Given the description of an element on the screen output the (x, y) to click on. 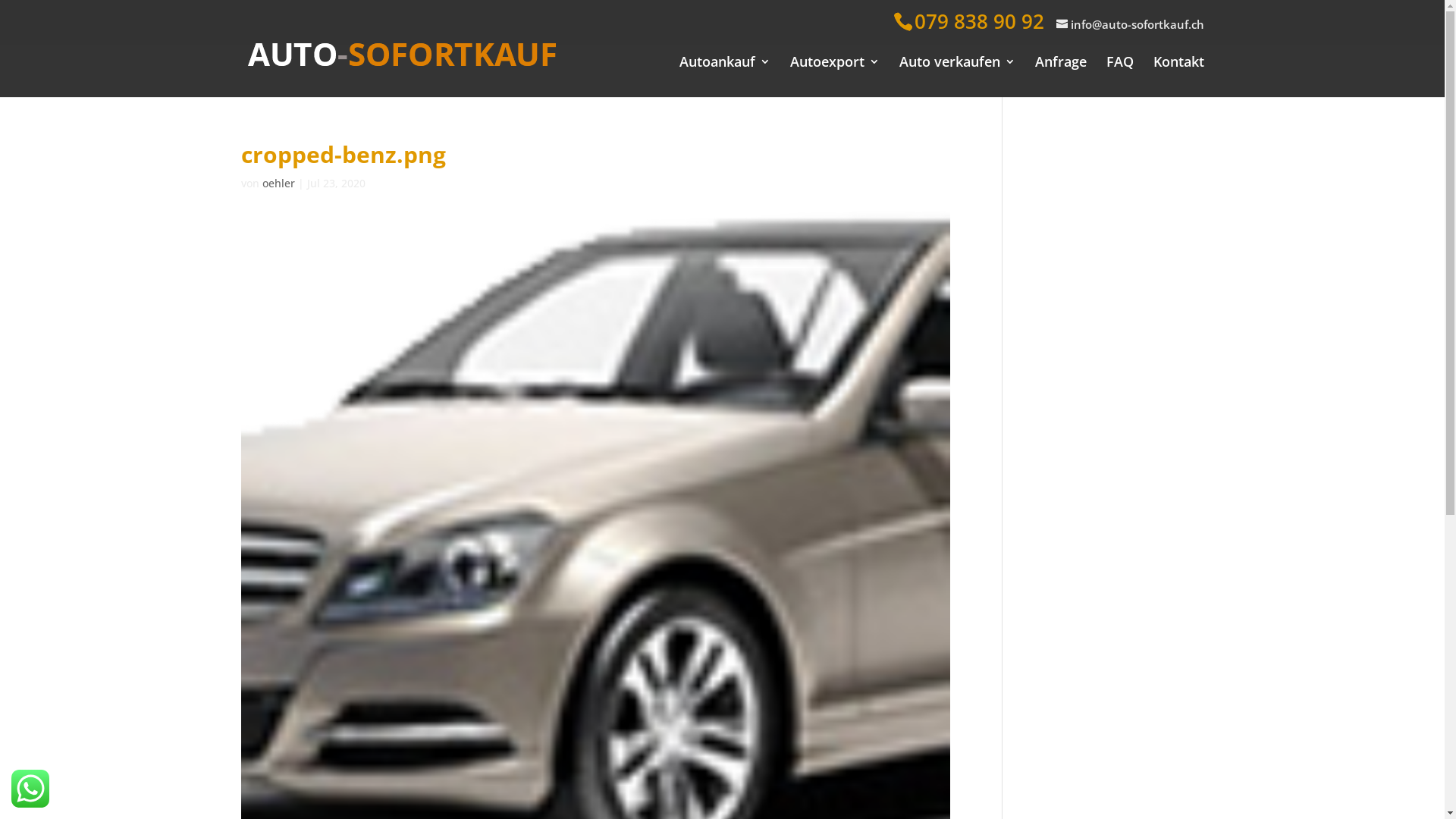
079 838 90 92 Element type: text (979, 20)
info@auto-sofortkauf.ch Element type: text (1129, 24)
oehler Element type: text (278, 182)
FAQ Element type: text (1118, 67)
Autoexport Element type: text (834, 67)
Auto verkaufen Element type: text (957, 67)
Anfrage Element type: text (1059, 67)
Kontakt Element type: text (1177, 67)
Autoankauf Element type: text (724, 67)
